Given the description of an element on the screen output the (x, y) to click on. 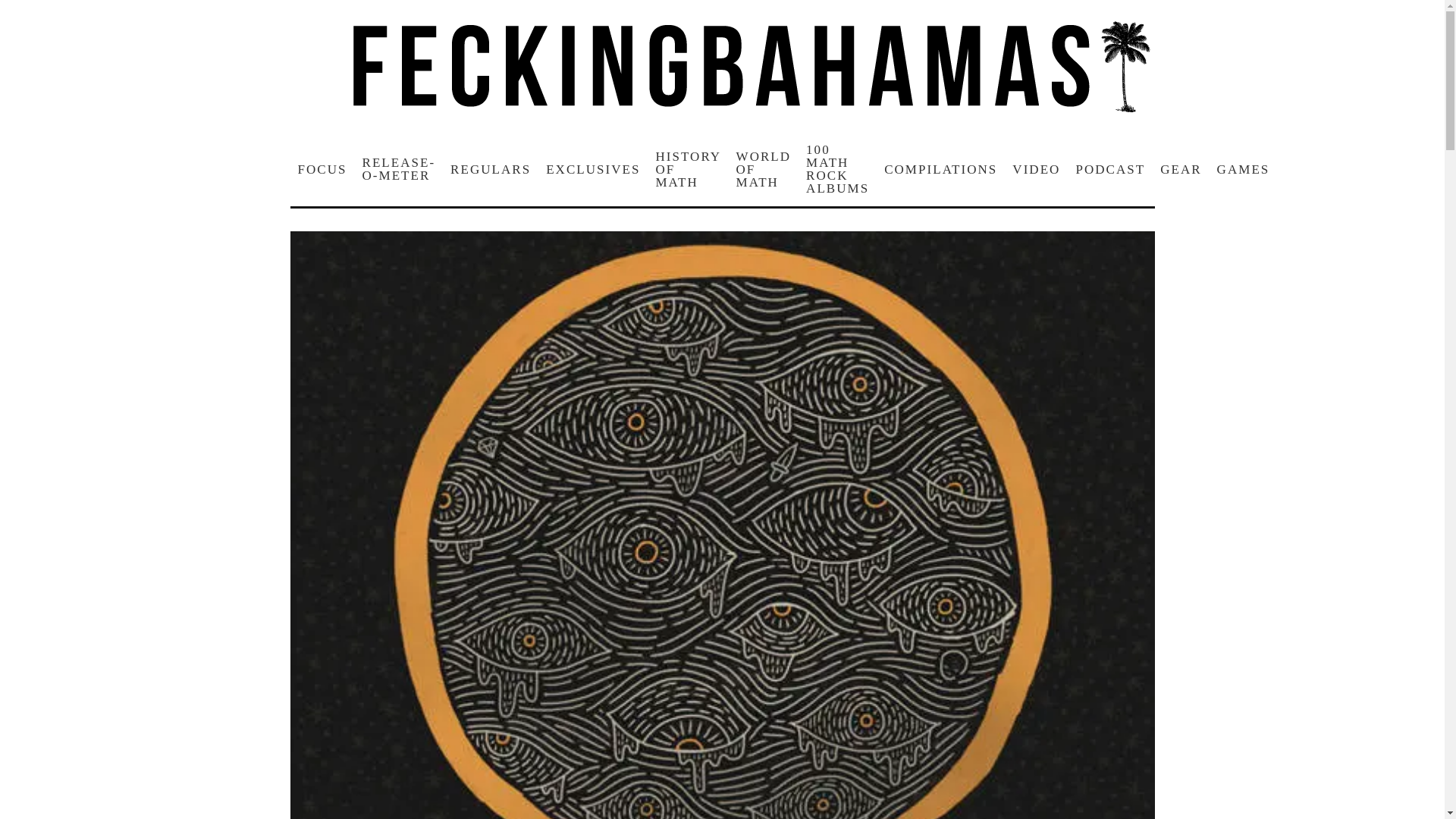
FOCUS (321, 169)
EXCLUSIVES (592, 169)
REGULARS (490, 169)
RELEASE-O-METER (399, 168)
